Given the description of an element on the screen output the (x, y) to click on. 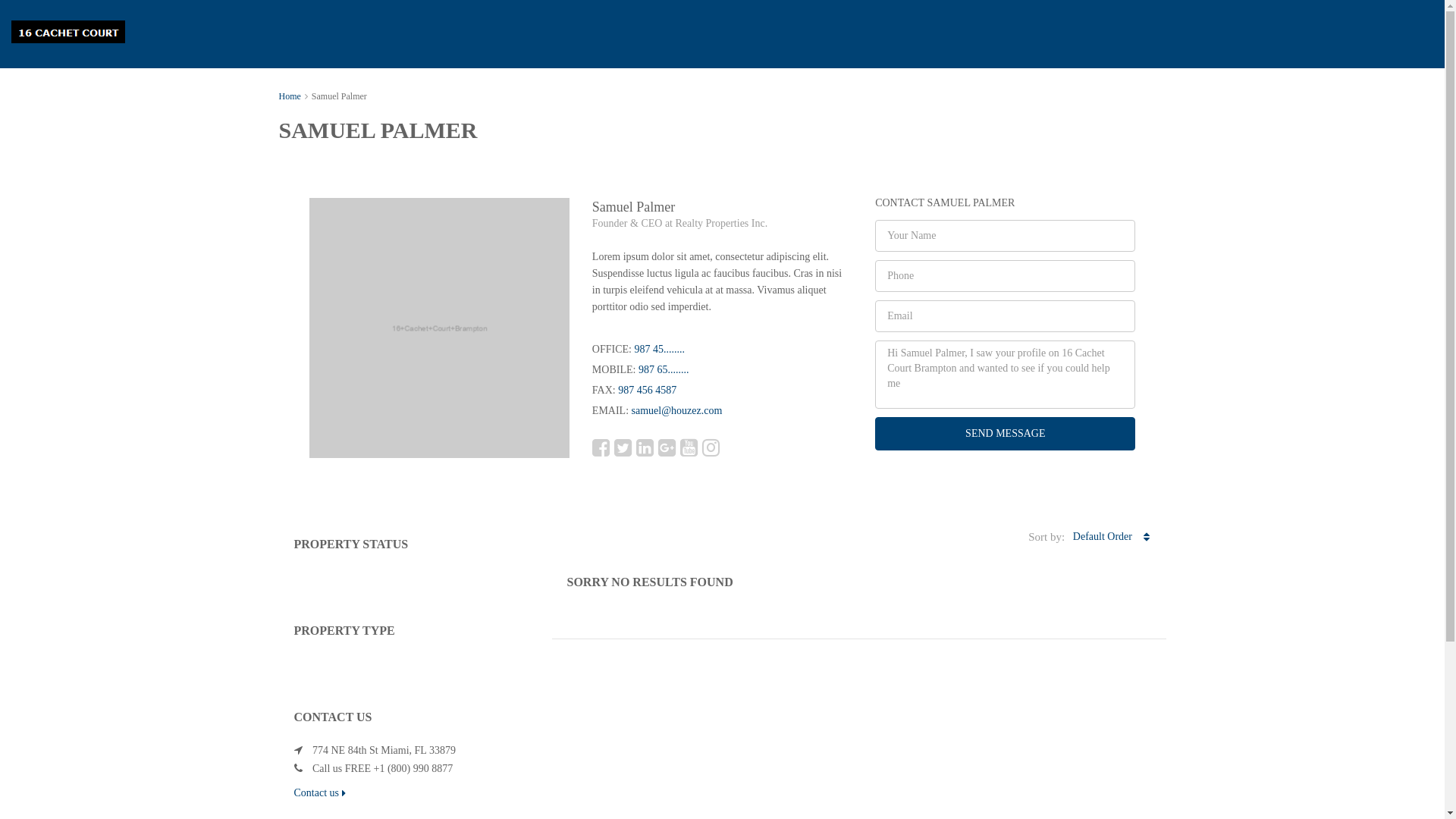
987 45........ Element type: text (658, 348)
samuel@houzez.com Element type: text (676, 410)
987 65........ Element type: text (663, 369)
Default Order
  Element type: text (1110, 536)
SEND MESSAGE Element type: text (1005, 433)
987 456 4587 Element type: text (647, 389)
Home Element type: text (290, 96)
Contact us Element type: text (319, 792)
